Given the description of an element on the screen output the (x, y) to click on. 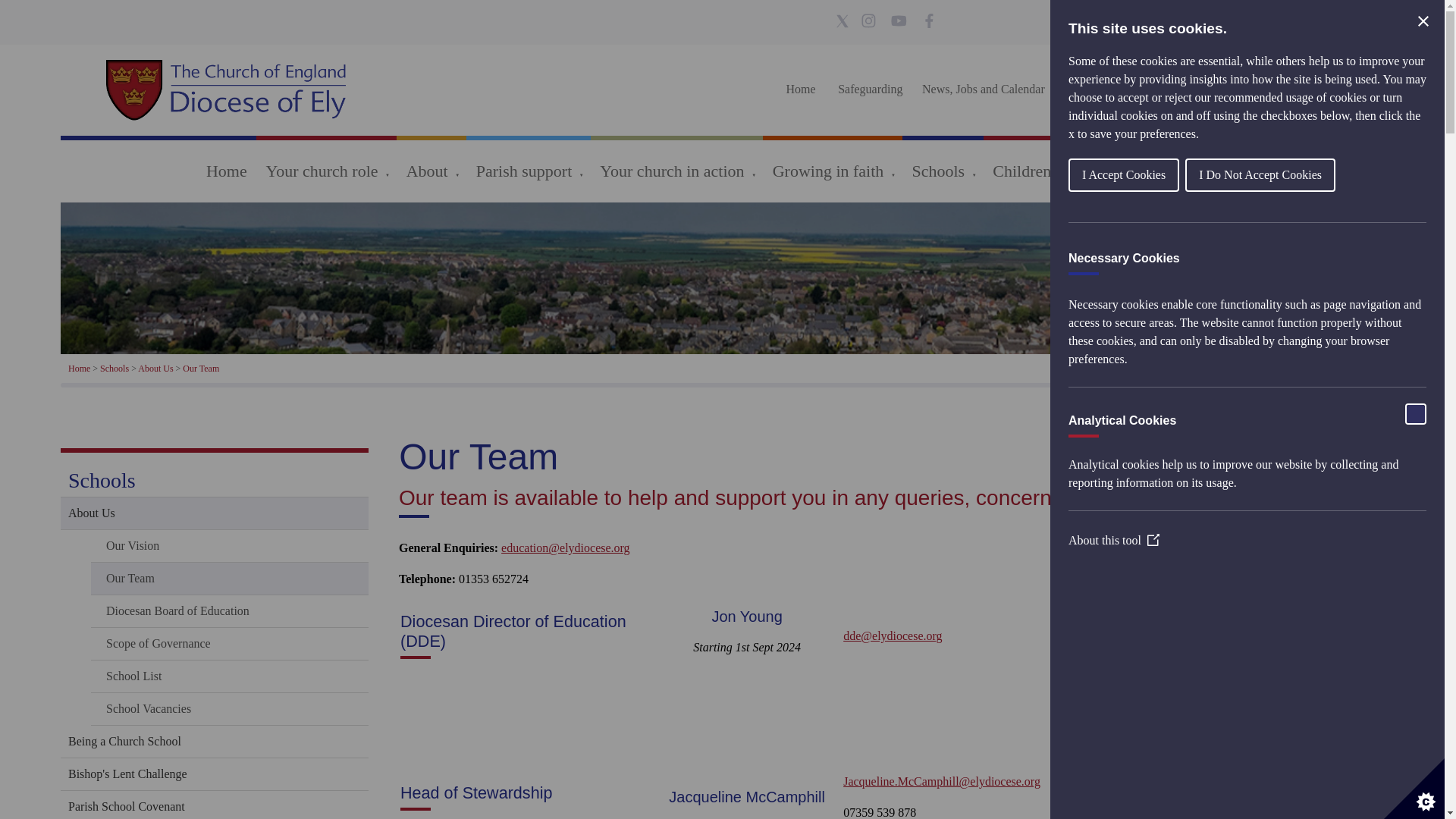
Contact us (1184, 88)
Parish Support (1103, 88)
Home (801, 88)
News, Jobs and Calendar (983, 88)
Safeguarding (869, 88)
